Given the description of an element on the screen output the (x, y) to click on. 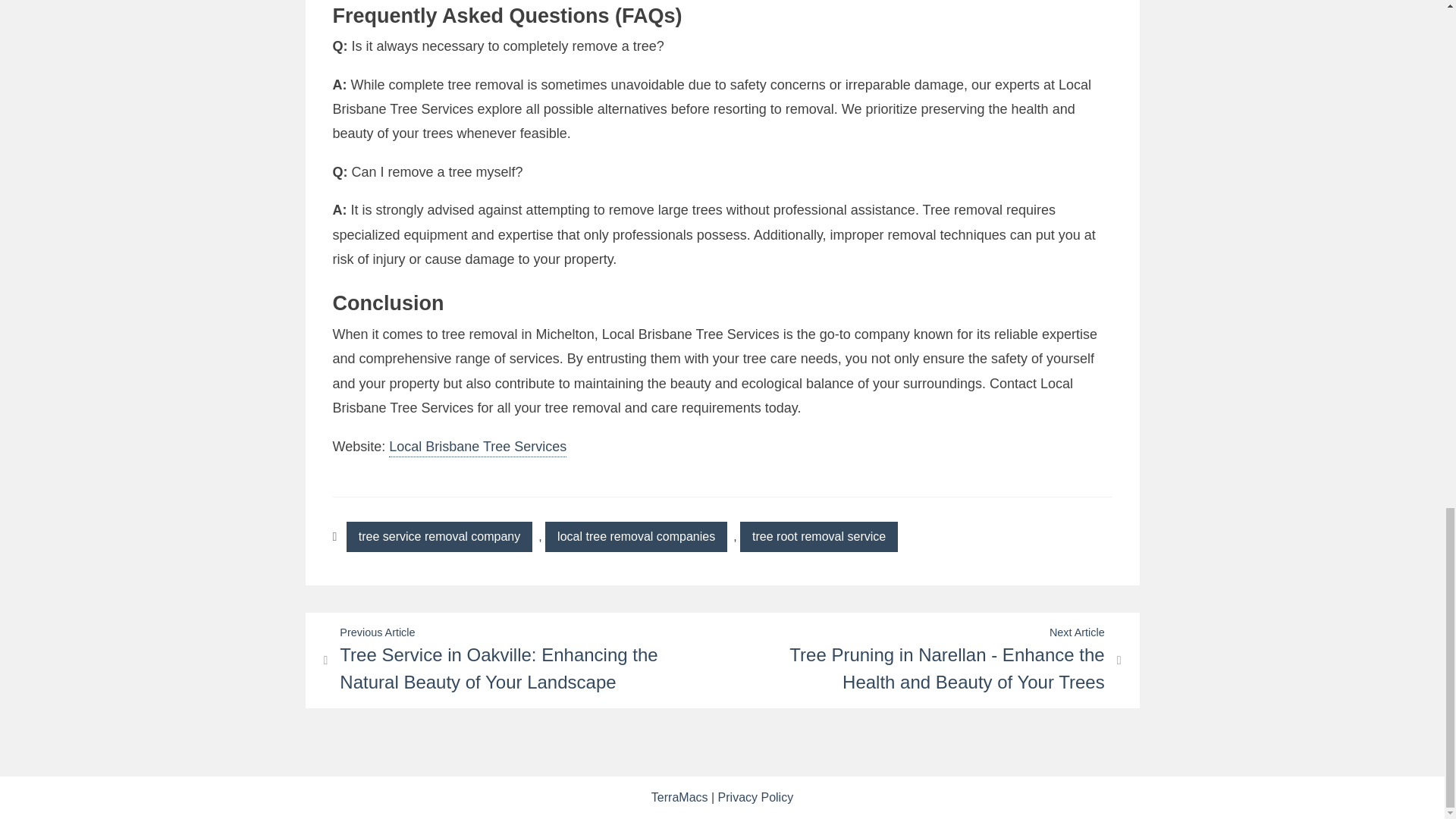
tree root removal service (818, 536)
Local Brisbane Tree Services (477, 447)
tree service removal company (439, 536)
TerraMacs (678, 797)
Privacy Policy (755, 797)
local tree removal companies (635, 536)
